Given the description of an element on the screen output the (x, y) to click on. 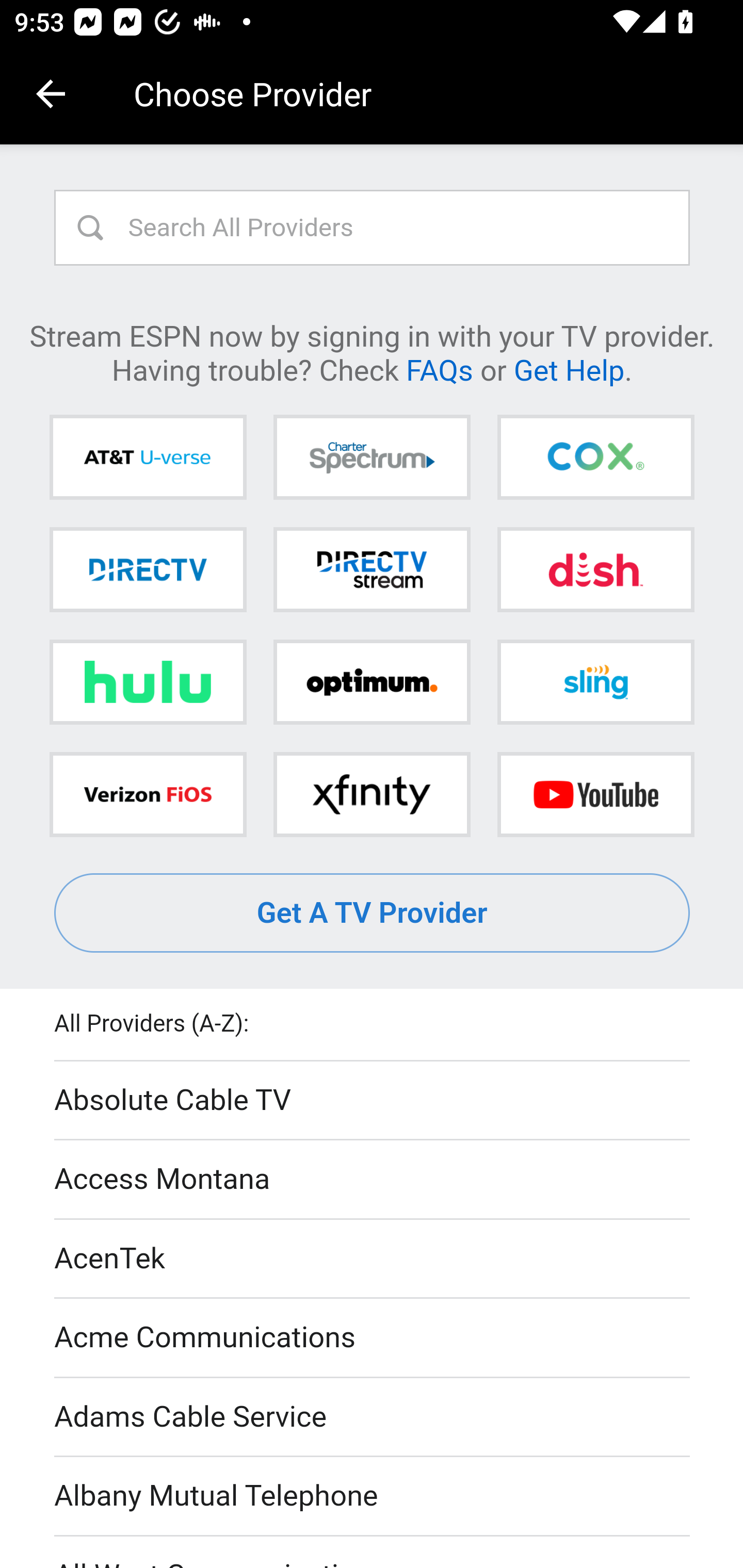
Navigate up (50, 93)
FAQs (438, 369)
Get Help (569, 369)
AT&T U-verse (147, 457)
Charter Spectrum (371, 457)
Cox (595, 457)
DIRECTV (147, 568)
DIRECTV STREAM (371, 568)
DISH (595, 568)
Hulu (147, 681)
Optimum (371, 681)
Sling TV (595, 681)
Verizon FiOS (147, 793)
Xfinity (371, 793)
YouTube TV (595, 793)
Get A TV Provider (372, 912)
Absolute Cable TV (372, 1100)
Access Montana (372, 1178)
AcenTek (372, 1258)
Acme Communications (372, 1338)
Adams Cable Service (372, 1417)
Albany Mutual Telephone (372, 1497)
